Given the description of an element on the screen output the (x, y) to click on. 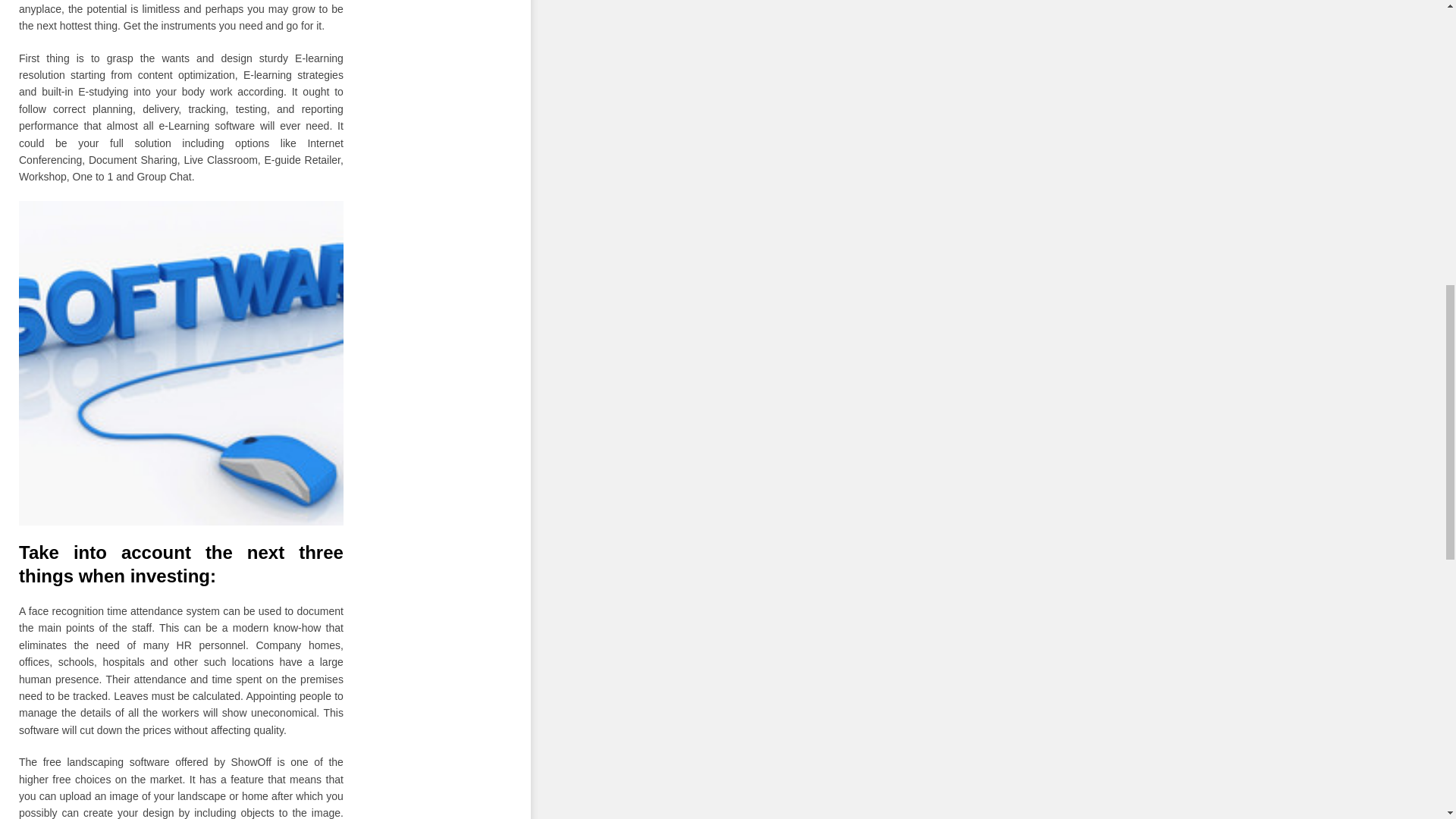
What You Do not Learn About Software (180, 362)
